Given the description of an element on the screen output the (x, y) to click on. 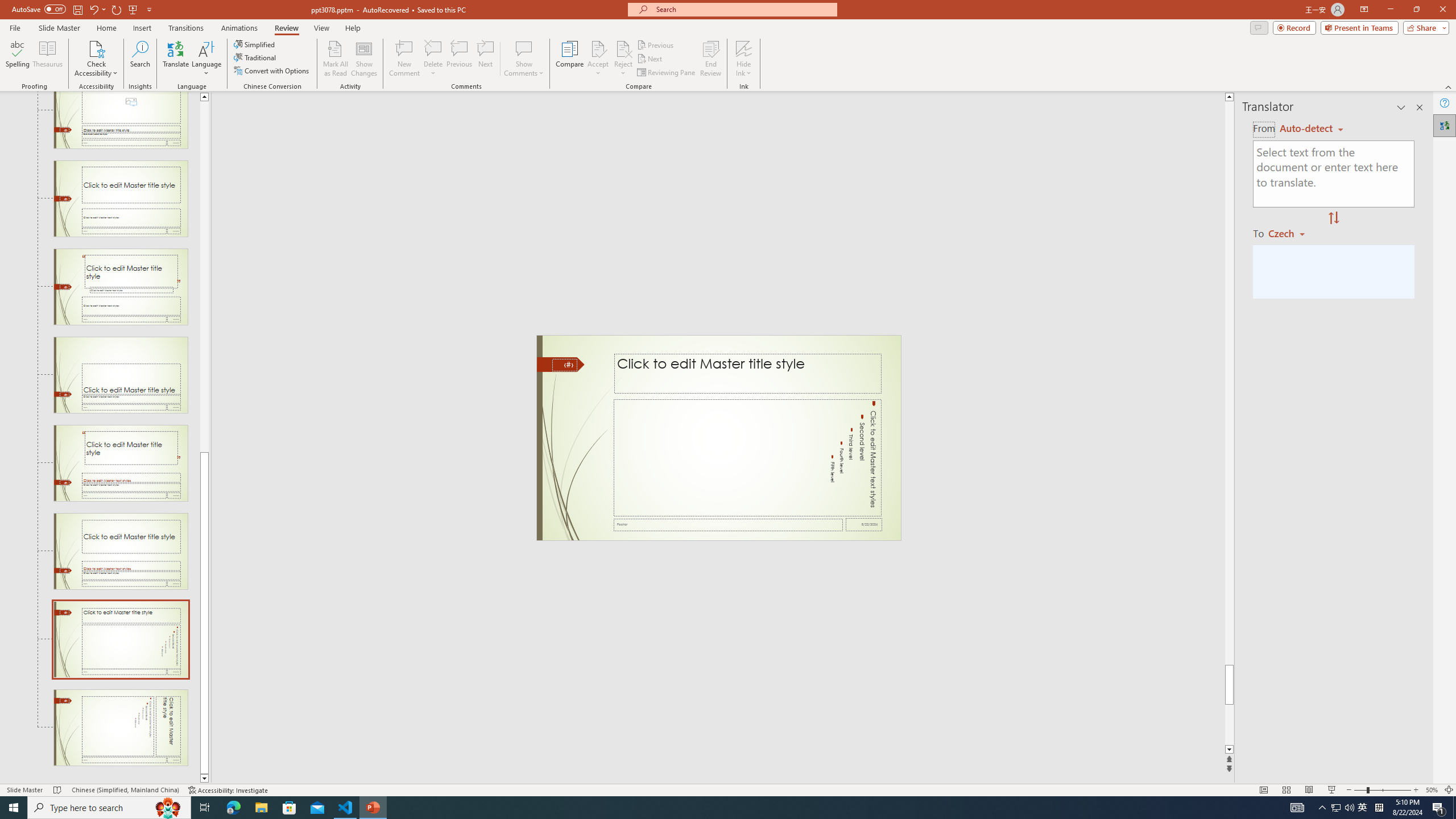
Slide Quote Name Card Layout: used by no slides (120, 463)
Slide True or False Layout: used by no slides (120, 550)
Slide Title and Caption Layout: used by no slides (120, 198)
